Given the description of an element on the screen output the (x, y) to click on. 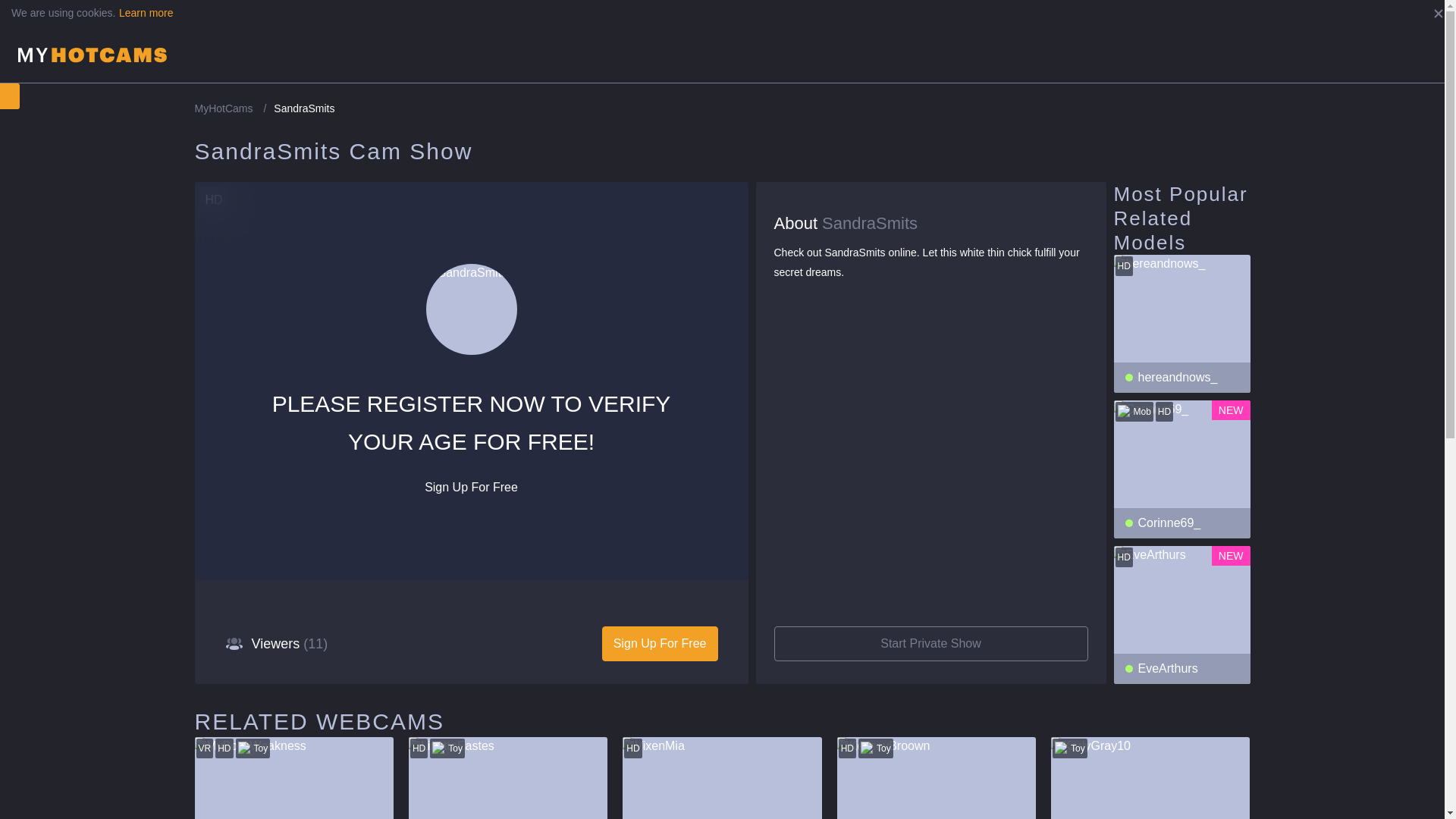
Learn more (146, 12)
